Given the description of an element on the screen output the (x, y) to click on. 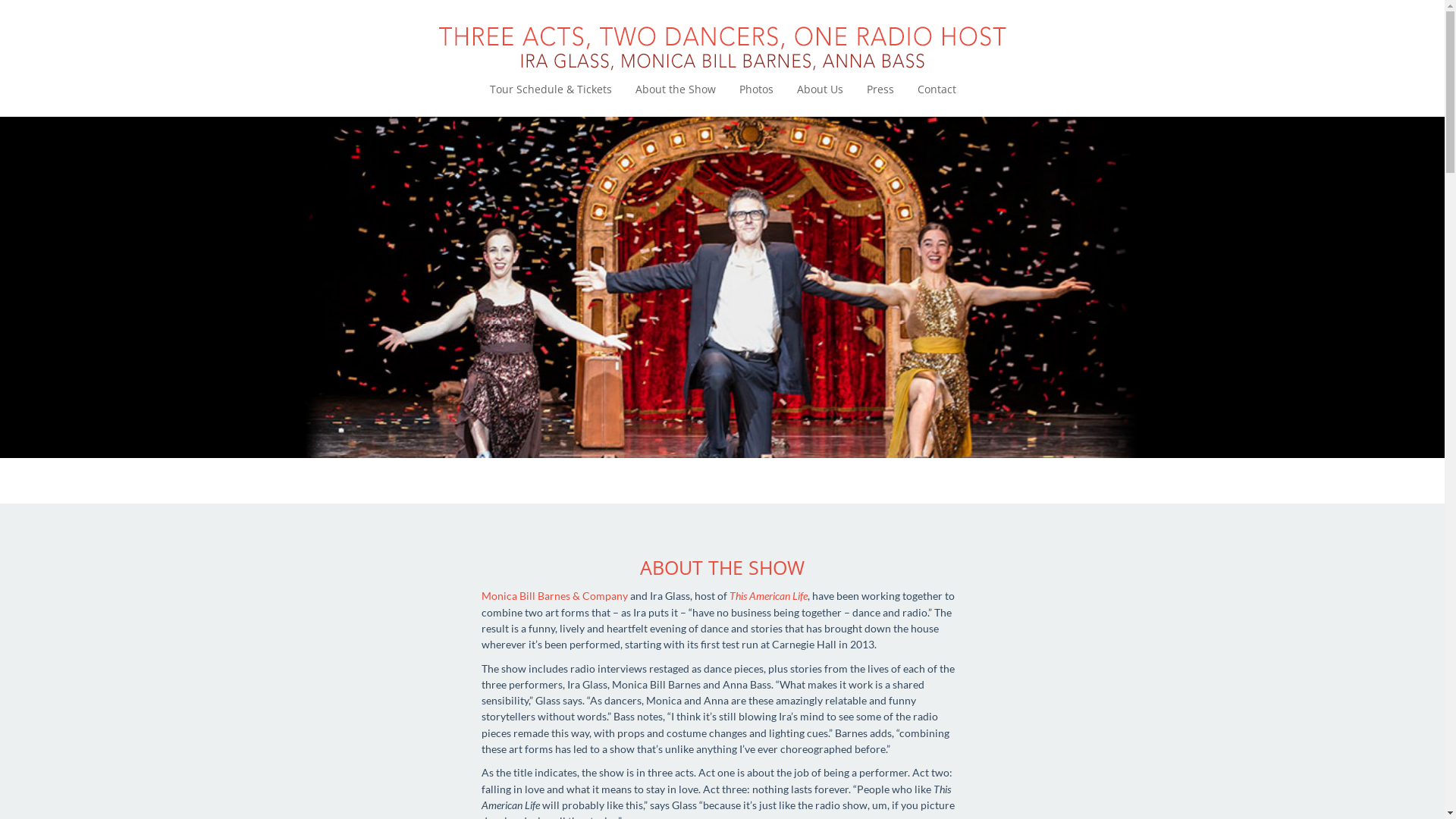
Photos Element type: text (756, 89)
About the Show Element type: text (675, 89)
This American Life Element type: text (768, 595)
Press Element type: text (880, 89)
Tour Schedule & Tickets Element type: text (550, 89)
About Us Element type: text (819, 89)
Monica Bill Barnes & Company Element type: text (553, 595)
Contact Element type: text (936, 89)
